Given the description of an element on the screen output the (x, y) to click on. 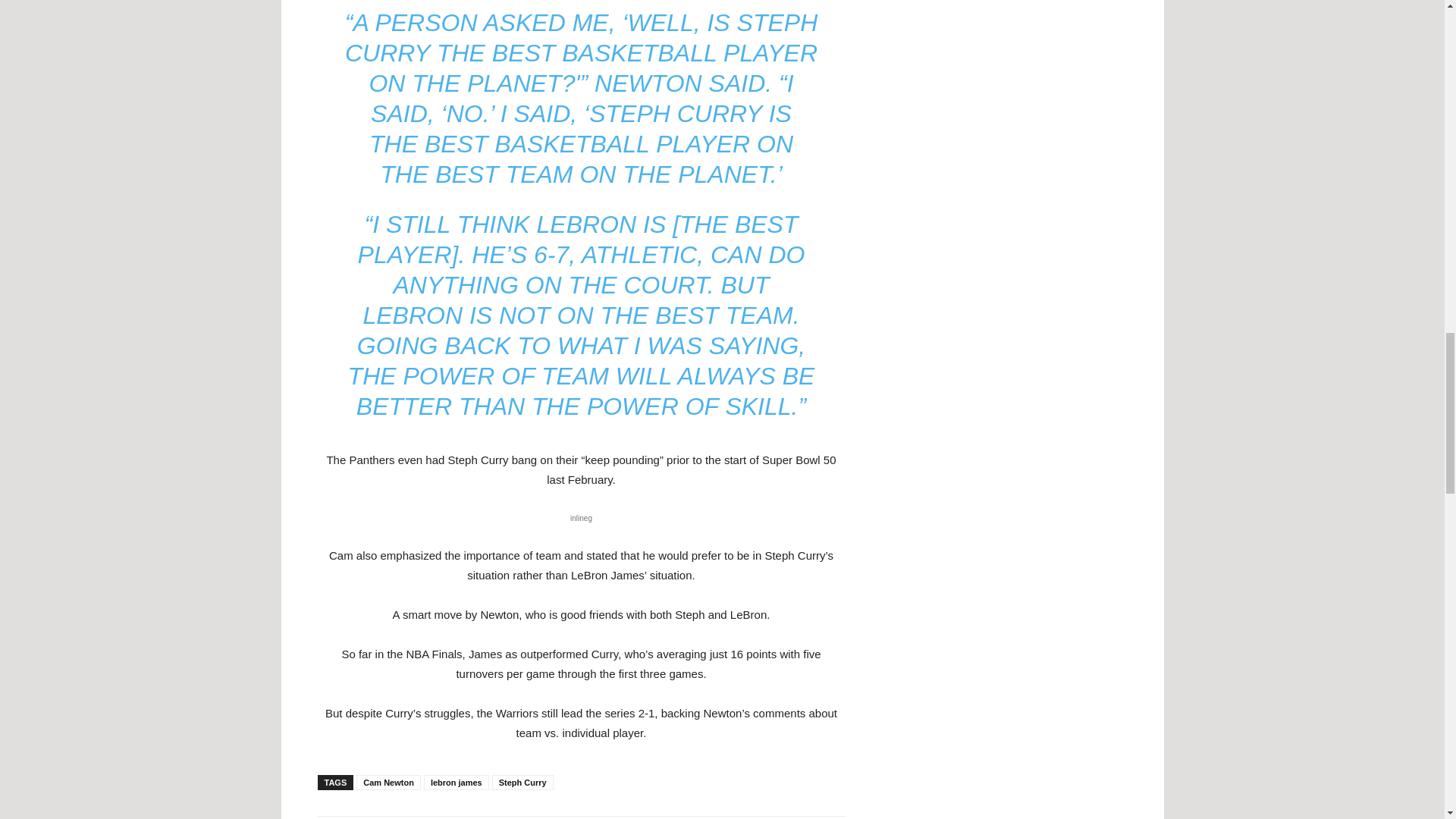
Cam Newton (388, 782)
Steph Curry (522, 782)
lebron james (456, 782)
